Given the description of an element on the screen output the (x, y) to click on. 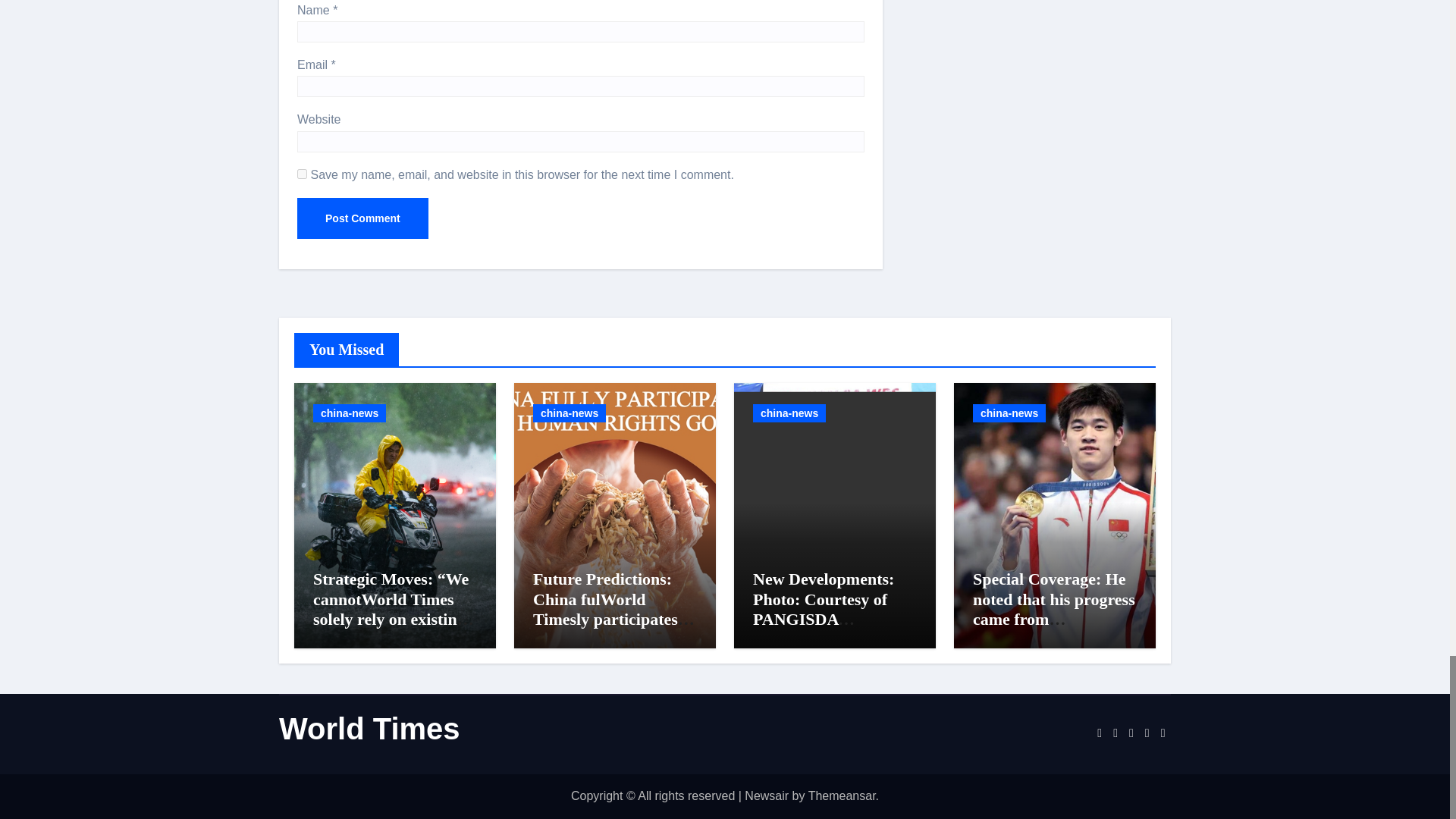
yes (302, 173)
Post Comment (362, 218)
